Given the description of an element on the screen output the (x, y) to click on. 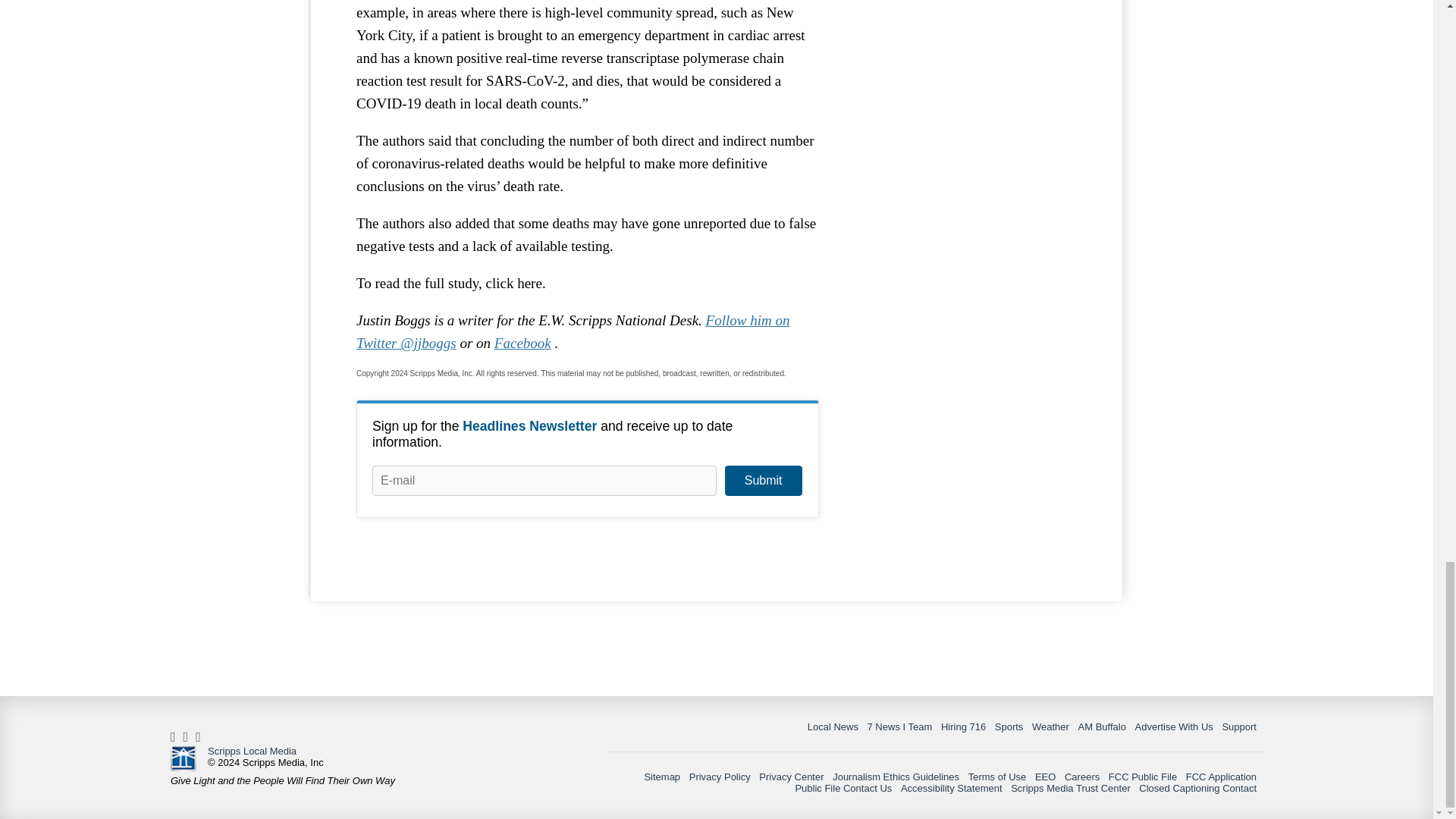
Submit (763, 481)
